Given the description of an element on the screen output the (x, y) to click on. 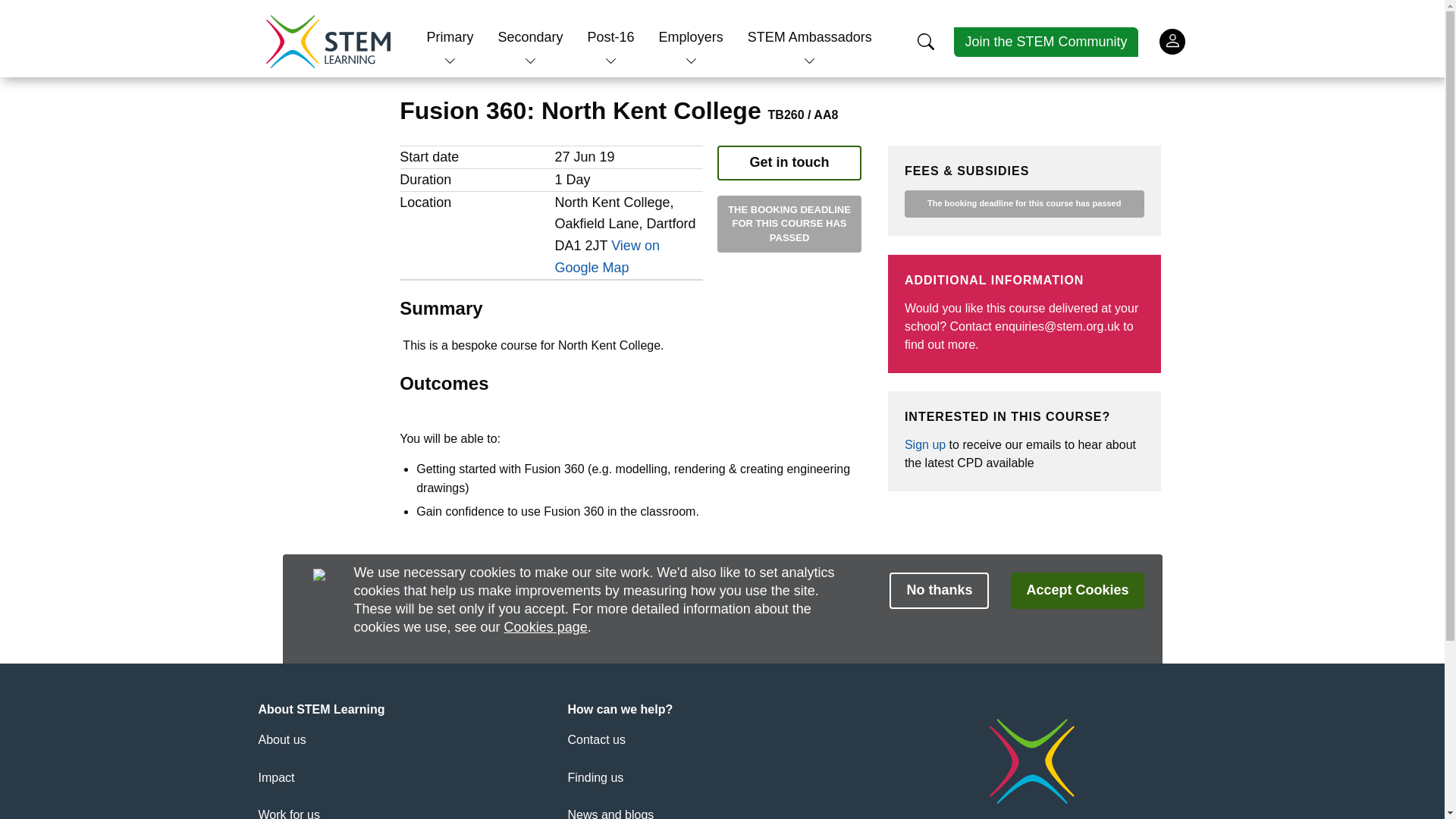
STEM Ambassadors (810, 37)
Post-16 (611, 37)
Secondary (529, 37)
Home (327, 40)
Primary (449, 37)
Employers (691, 37)
